Given the description of an element on the screen output the (x, y) to click on. 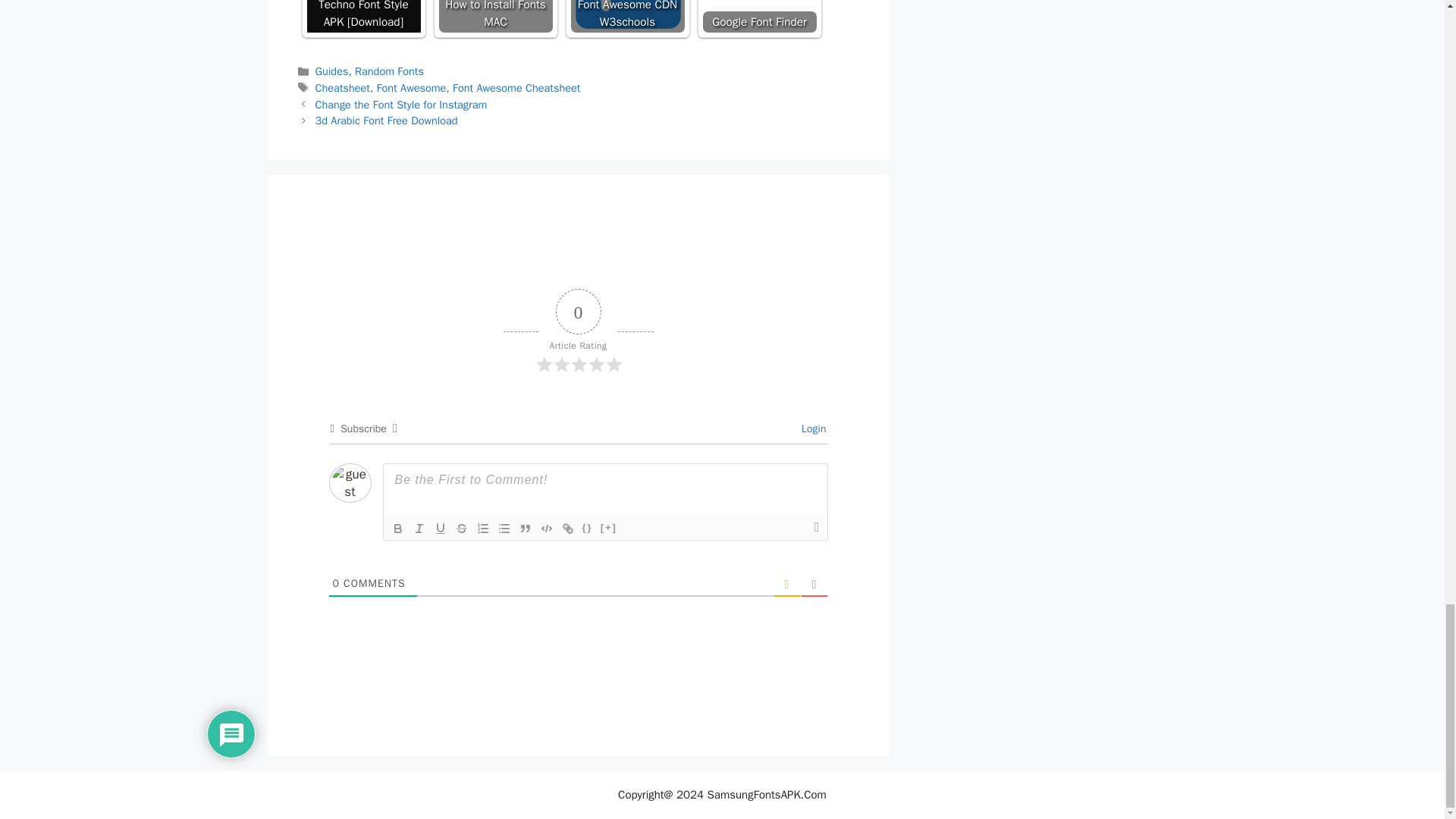
3d Arabic Font Free Download (386, 120)
bullet (503, 528)
Cheatsheet (342, 88)
Login (811, 428)
Font Awesome (411, 88)
Google Font Finder (758, 16)
Underline (439, 528)
Guides (332, 70)
How to Install Fonts MAC (494, 16)
ordered (482, 528)
Font Awesome CDN W3schools (627, 16)
Change the Font Style for Instagram (401, 104)
Italic (418, 528)
Random Fonts (389, 70)
Font Awesome Cheatsheet (515, 88)
